Given the description of an element on the screen output the (x, y) to click on. 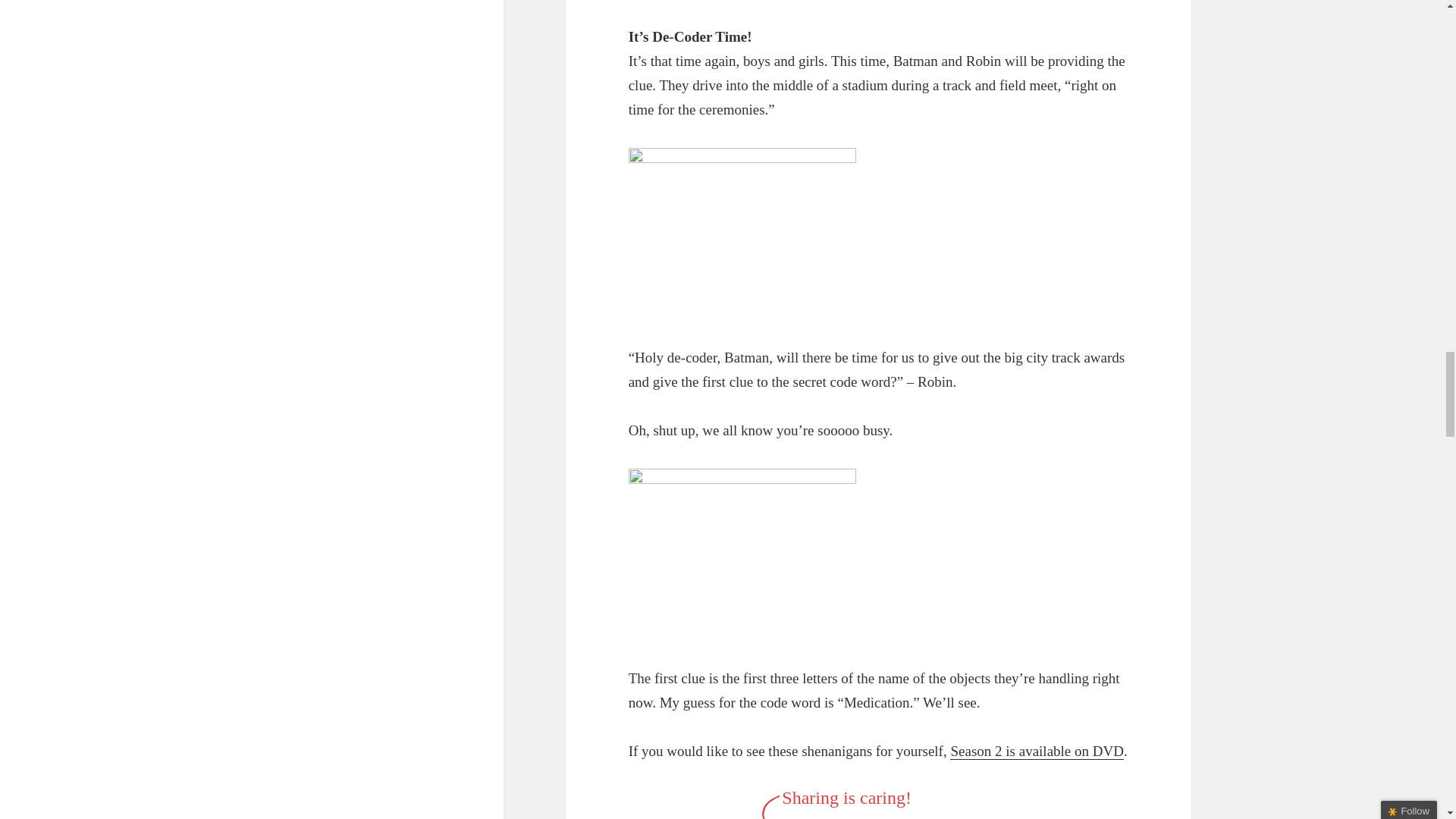
Facebook (800, 813)
Super Friends Clue (742, 554)
Super Friends Busy (742, 233)
Amazon - All-New Super Friends Hour (1036, 751)
